Given the description of an element on the screen output the (x, y) to click on. 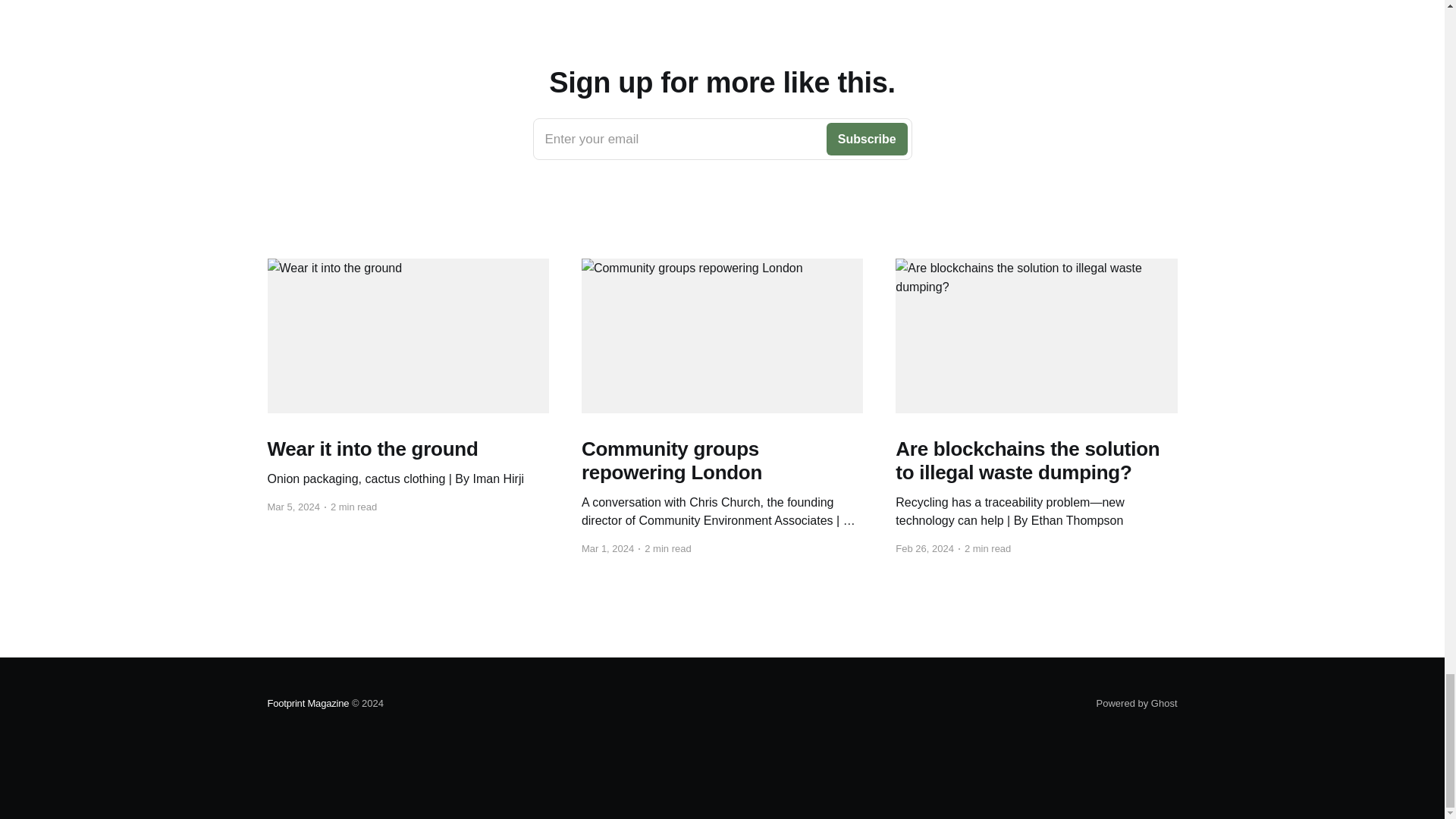
Powered by Ghost (721, 138)
Footprint Magazine (1136, 703)
